Given the description of an element on the screen output the (x, y) to click on. 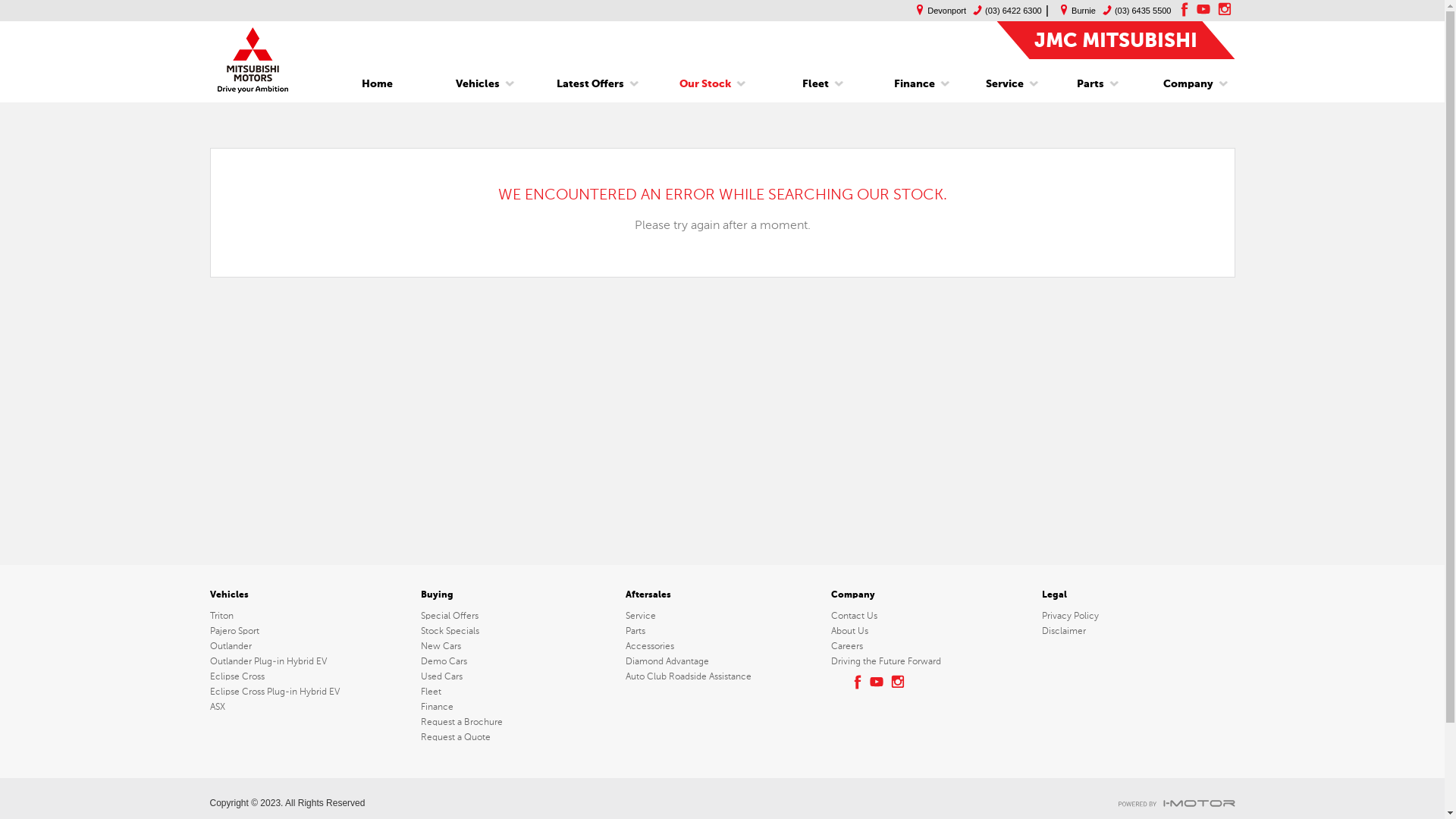
youtube Element type: text (877, 681)
Driving the Future Forward Element type: text (927, 660)
Triton Element type: text (311, 615)
Our Stock Element type: text (705, 83)
Parts Element type: text (721, 630)
Finance Element type: text (914, 83)
Devonport Element type: text (937, 10)
Latest Offers Element type: text (590, 83)
Vehicles Element type: text (477, 83)
Fleet Element type: text (516, 691)
instagram Element type: text (1224, 9)
Request a Quote Element type: text (516, 736)
Contact Us Element type: text (927, 615)
Special Offers Element type: text (516, 615)
Eclipse Cross Plug-in Hybrid EV Element type: text (311, 691)
youtube Element type: text (1203, 9)
Accessories Element type: text (721, 645)
ASX Element type: text (311, 706)
Company Element type: text (1182, 83)
Used Cars Element type: text (516, 676)
Stock Specials Element type: text (516, 630)
Eclipse Cross Element type: text (311, 676)
Careers Element type: text (927, 645)
Finance Element type: text (516, 706)
facebook Element type: text (856, 681)
Disclaimer Element type: text (1137, 630)
Diamond Advantage Element type: text (721, 660)
Pajero Sport Element type: text (311, 630)
JMC MITSUBISHI Element type: text (1115, 40)
Outlander Plug-in Hybrid EV Element type: text (311, 660)
facebook Element type: text (1182, 9)
Demo Cars Element type: text (516, 660)
Request a Brochure Element type: text (516, 721)
Fleet Element type: text (815, 83)
Home Element type: text (377, 83)
instagram Element type: text (898, 681)
Outlander Element type: text (311, 645)
New Cars Element type: text (516, 645)
Auto Club Roadside Assistance Element type: text (721, 676)
Service Element type: text (1004, 83)
Parts Element type: text (1090, 83)
Service Element type: text (721, 615)
About Us Element type: text (927, 630)
Privacy Policy Element type: text (1137, 615)
Burnie Element type: text (1073, 10)
